Given the description of an element on the screen output the (x, y) to click on. 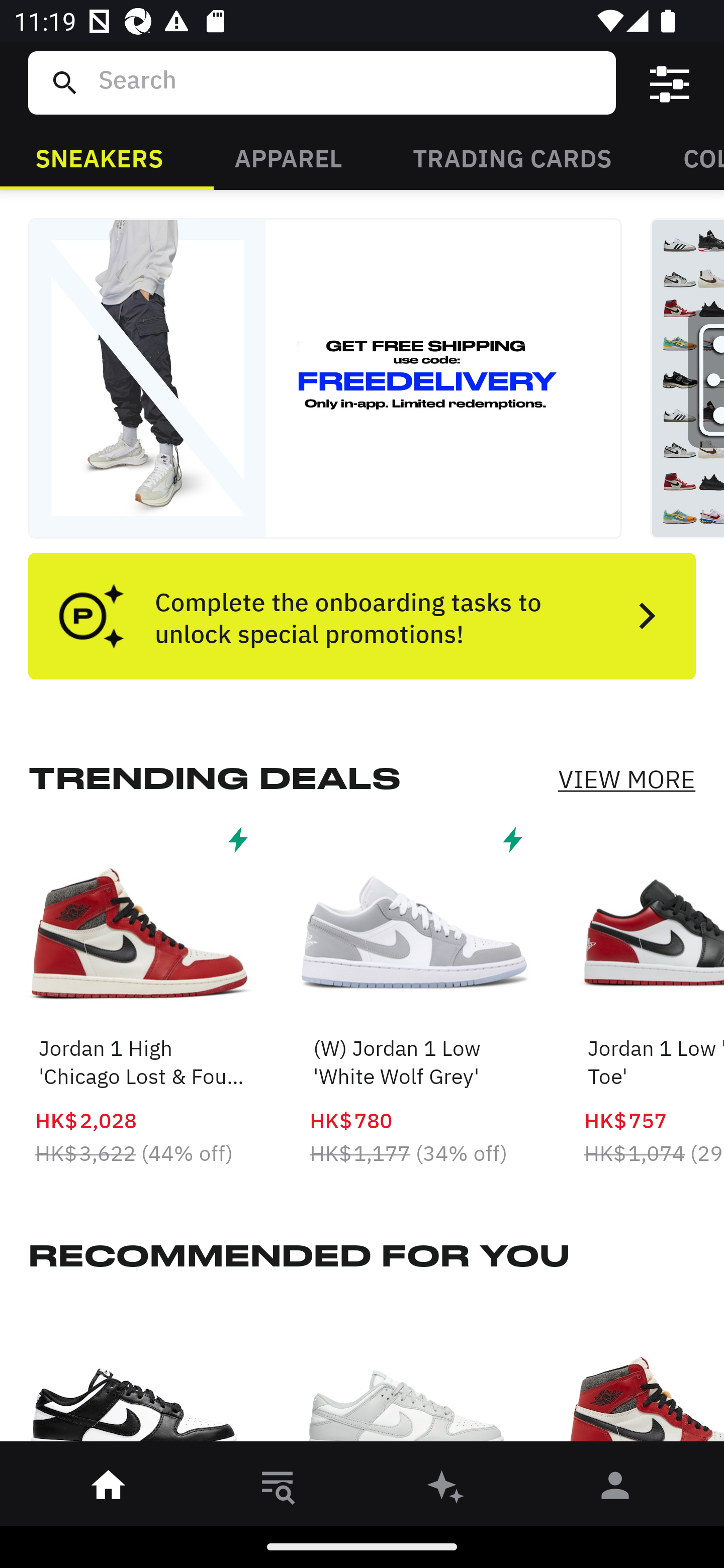
Search (349, 82)
 (669, 82)
SNEAKERS (99, 156)
APPAREL (287, 156)
TRADING CARDS (512, 156)
VIEW MORE (626, 779)
󰋜 (108, 1488)
󱎸 (277, 1488)
󰫢 (446, 1488)
󰀄 (615, 1488)
